Given the description of an element on the screen output the (x, y) to click on. 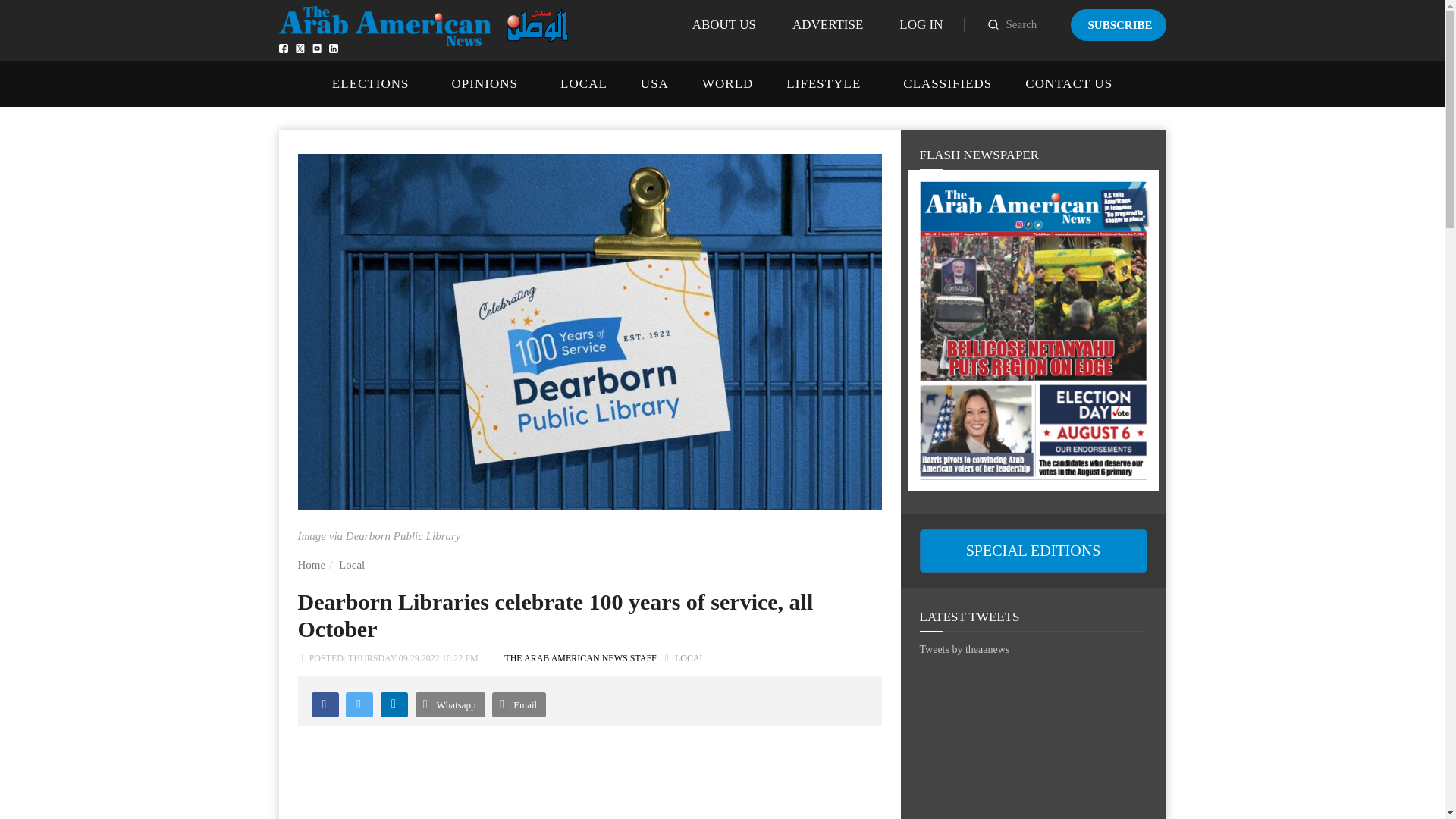
Local (352, 564)
ABOUT US (724, 24)
3rd party ad content (588, 794)
3rd party ad content (1032, 749)
Home (310, 564)
LOCAL (583, 83)
SUBSCRIBE (1118, 24)
ELECTIONS (370, 83)
ADVERTISE (827, 24)
OPINIONS (484, 83)
View all posts in Local (689, 657)
Local (352, 564)
CONTACT US (1068, 83)
LOG IN (920, 24)
CLASSIFIEDS (946, 83)
